Given the description of an element on the screen output the (x, y) to click on. 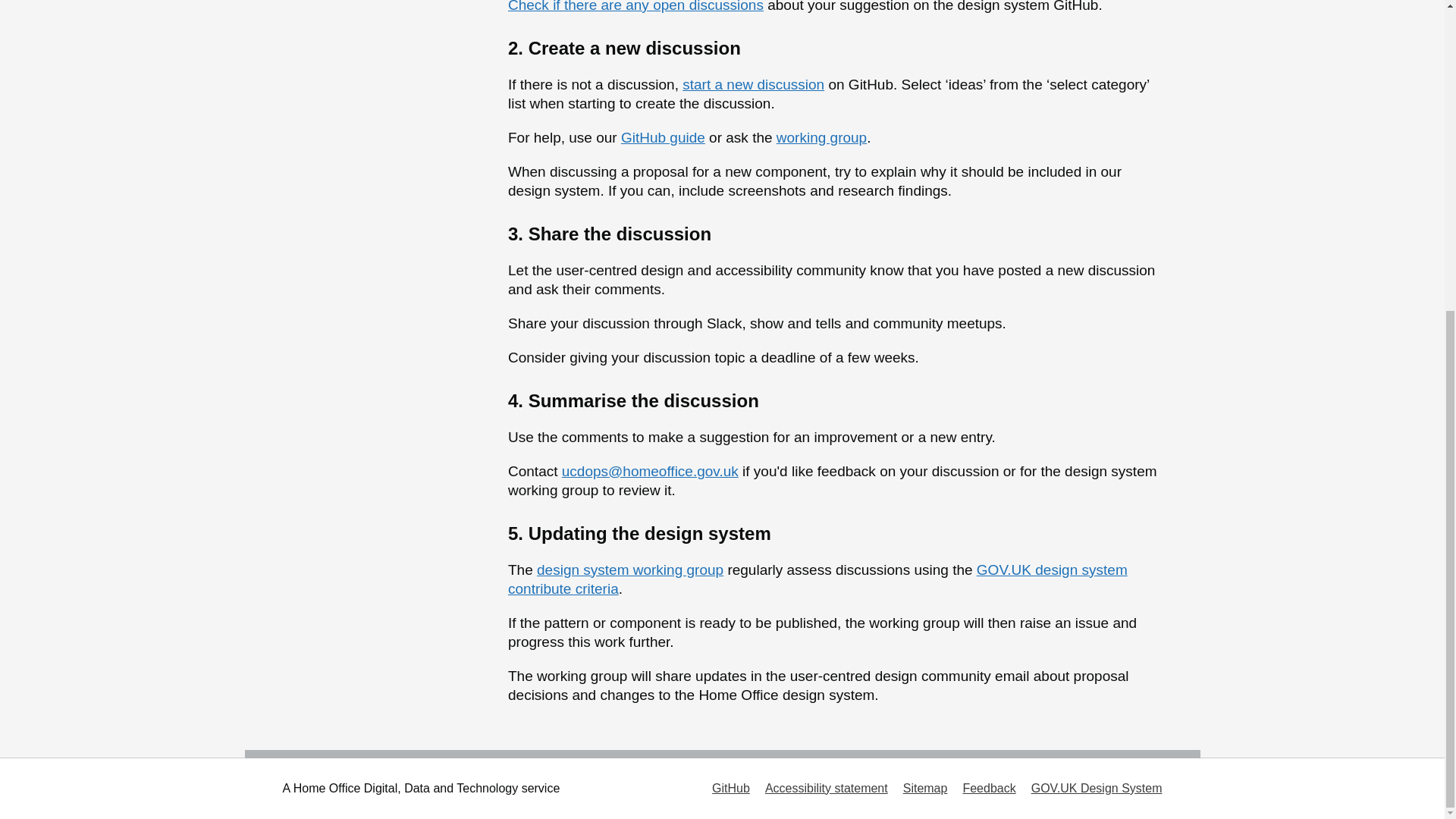
Sitemap (924, 788)
Accessibility statement (826, 788)
GitHub guide (662, 137)
start a new discussion (753, 84)
Feedback (988, 788)
GitHub (730, 788)
GOV.UK design system contribute criteria (817, 579)
Check if there are any open discussions (635, 6)
GOV.UK Design System (1095, 788)
design system working group (630, 569)
